Given the description of an element on the screen output the (x, y) to click on. 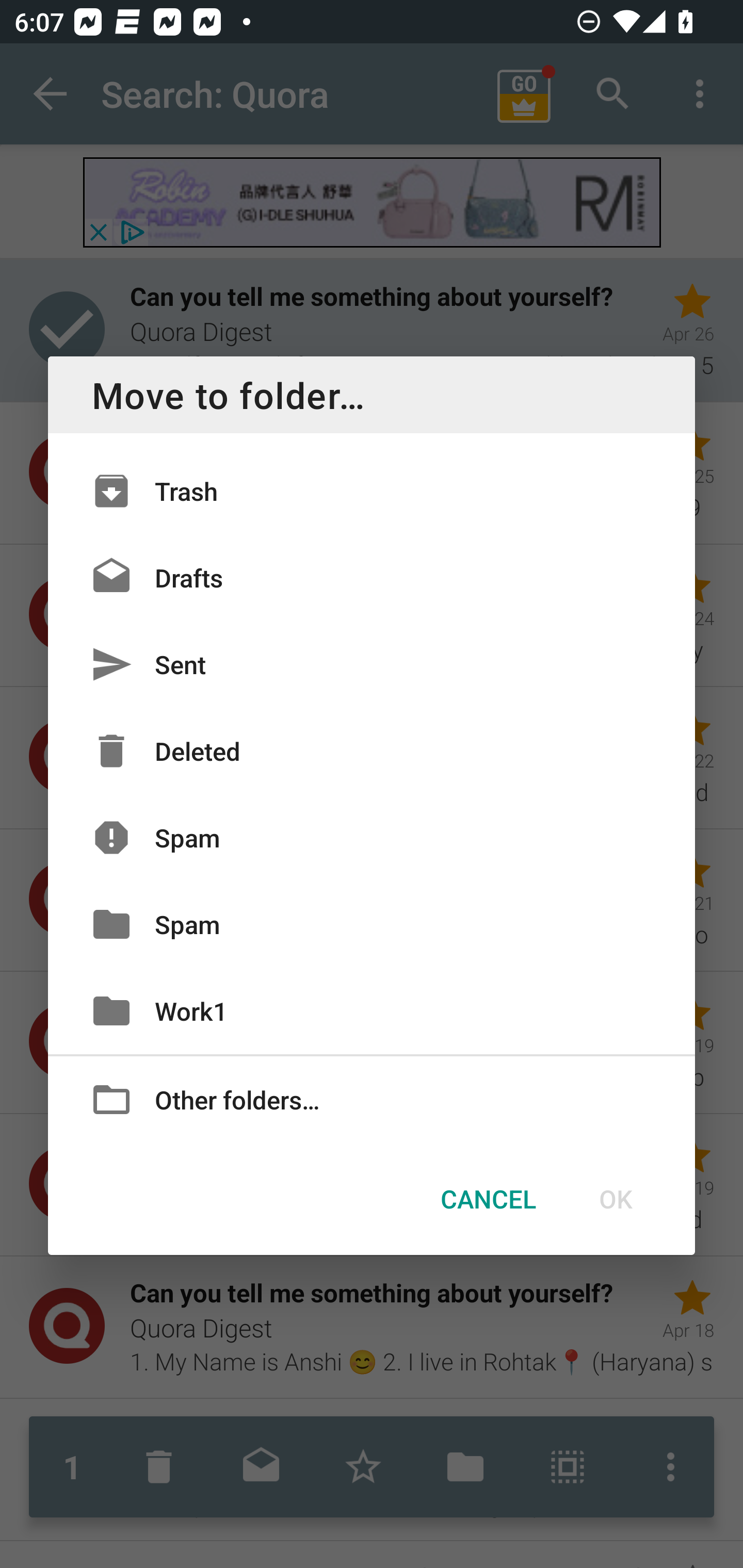
Trash (371, 491)
Drafts (371, 577)
Sent (371, 663)
Deleted (371, 750)
Spam (371, 837)
Spam (371, 924)
Work1 (371, 1010)
Other folders… (371, 1098)
CANCEL (488, 1199)
OK (615, 1199)
